Given the description of an element on the screen output the (x, y) to click on. 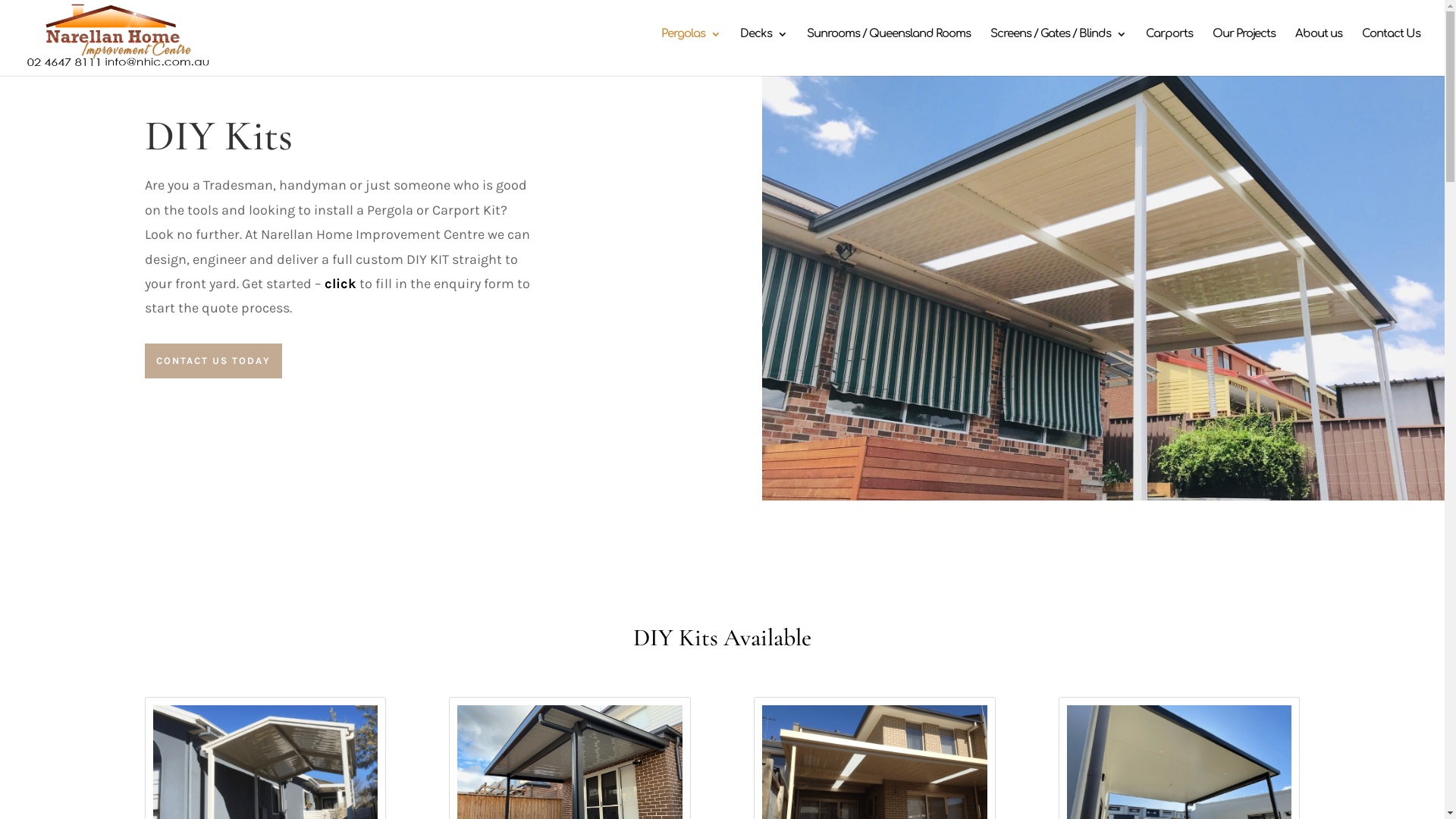
Contact Us Element type: text (1390, 48)
Decks Element type: text (763, 48)
Carports Element type: text (1168, 48)
Pergolas Element type: text (690, 48)
click Element type: text (340, 283)
Screens / Gates / Blinds Element type: text (1058, 48)
CONTACT US TODAY Element type: text (212, 360)
Our Projects Element type: text (1243, 48)
Sunrooms / Queensland Rooms Element type: text (888, 48)
About us Element type: text (1318, 48)
